Given the description of an element on the screen output the (x, y) to click on. 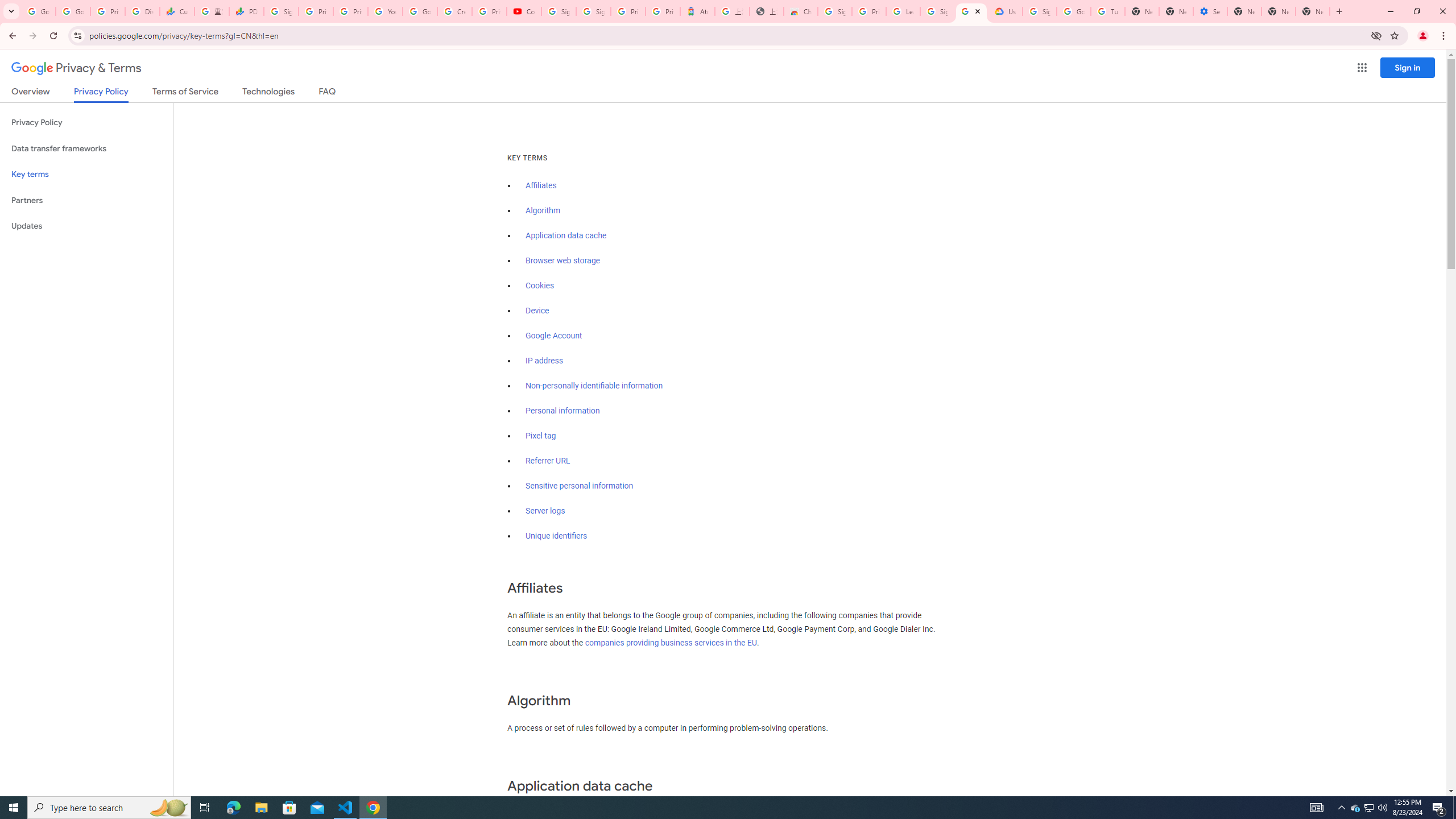
Affiliates (540, 185)
Turn cookies on or off - Computer - Google Account Help (1107, 11)
New Tab (1243, 11)
Personal information (562, 411)
Unique identifiers (556, 536)
Non-personally identifiable information (593, 385)
